Given the description of an element on the screen output the (x, y) to click on. 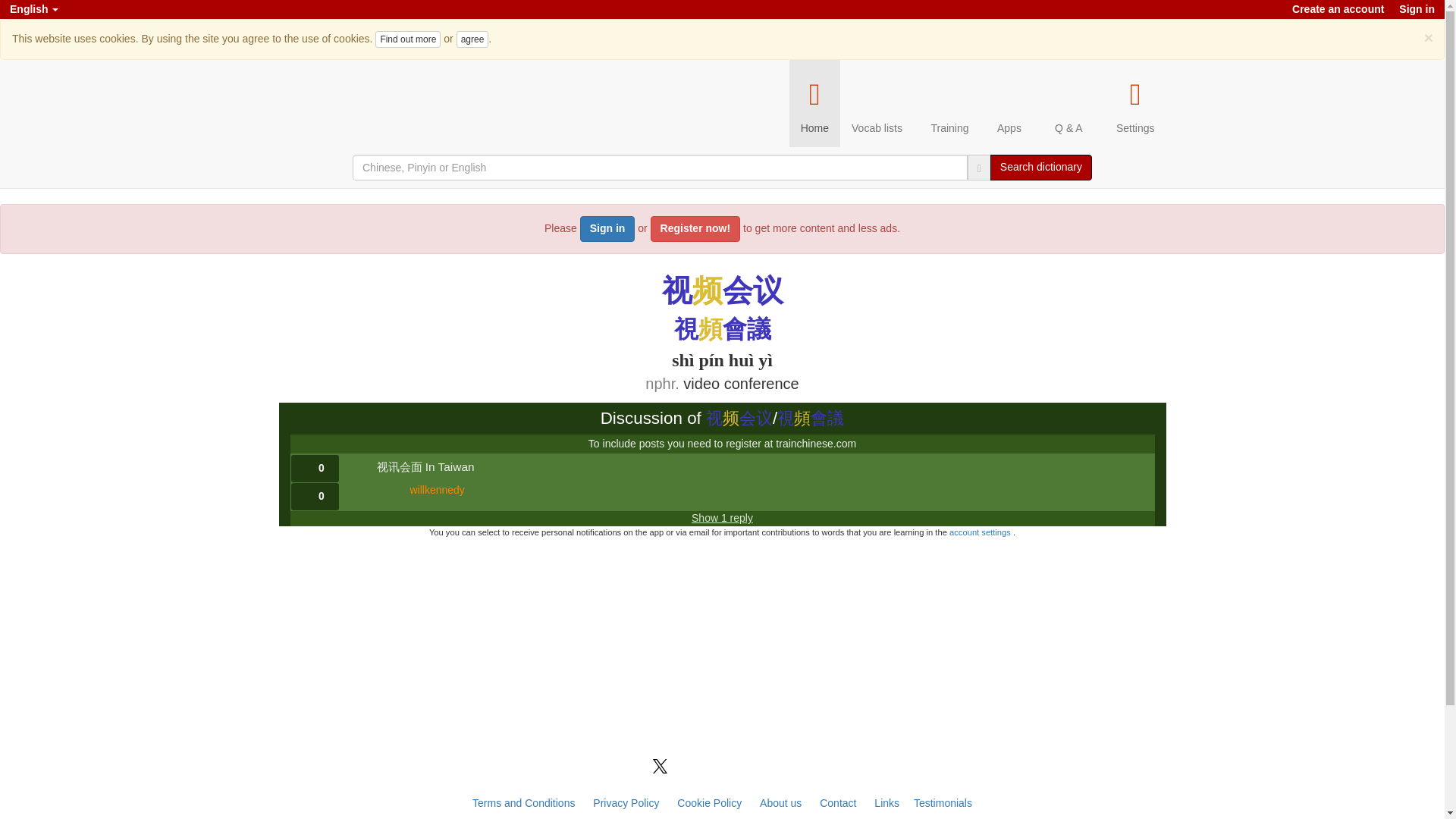
Register now! (695, 228)
Author (436, 490)
Bewerte dies nach unten (315, 496)
Find out more (408, 39)
Sign in (1417, 9)
English (34, 9)
Search dictionary (1041, 167)
Sign in (1417, 9)
Sign in (606, 228)
Bewerte dies hoch (315, 468)
